Given the description of an element on the screen output the (x, y) to click on. 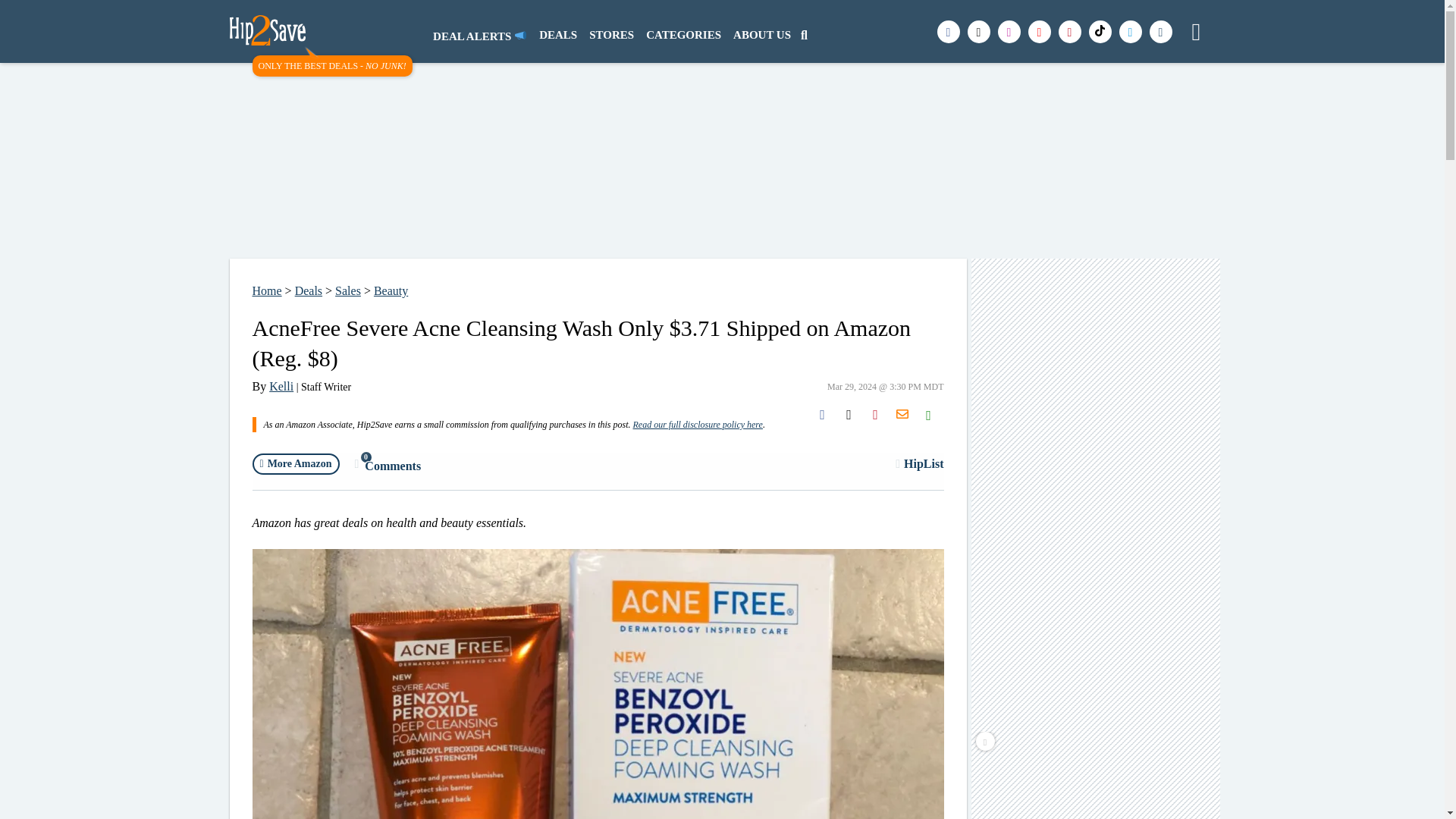
Click to share on Facebook (822, 414)
Click to share on X (848, 414)
DEALS (557, 36)
DEAL ALERTS (479, 36)
More Amazon (295, 464)
Deals (308, 290)
Home (266, 290)
Kelli (281, 386)
HipList (919, 463)
Click to share on H2S Email (902, 414)
CATEGORIES (683, 36)
3rd party ad content (1095, 497)
3rd party ad content (1095, 783)
Beauty (390, 290)
Click to share on Pinterest (874, 414)
